Given the description of an element on the screen output the (x, y) to click on. 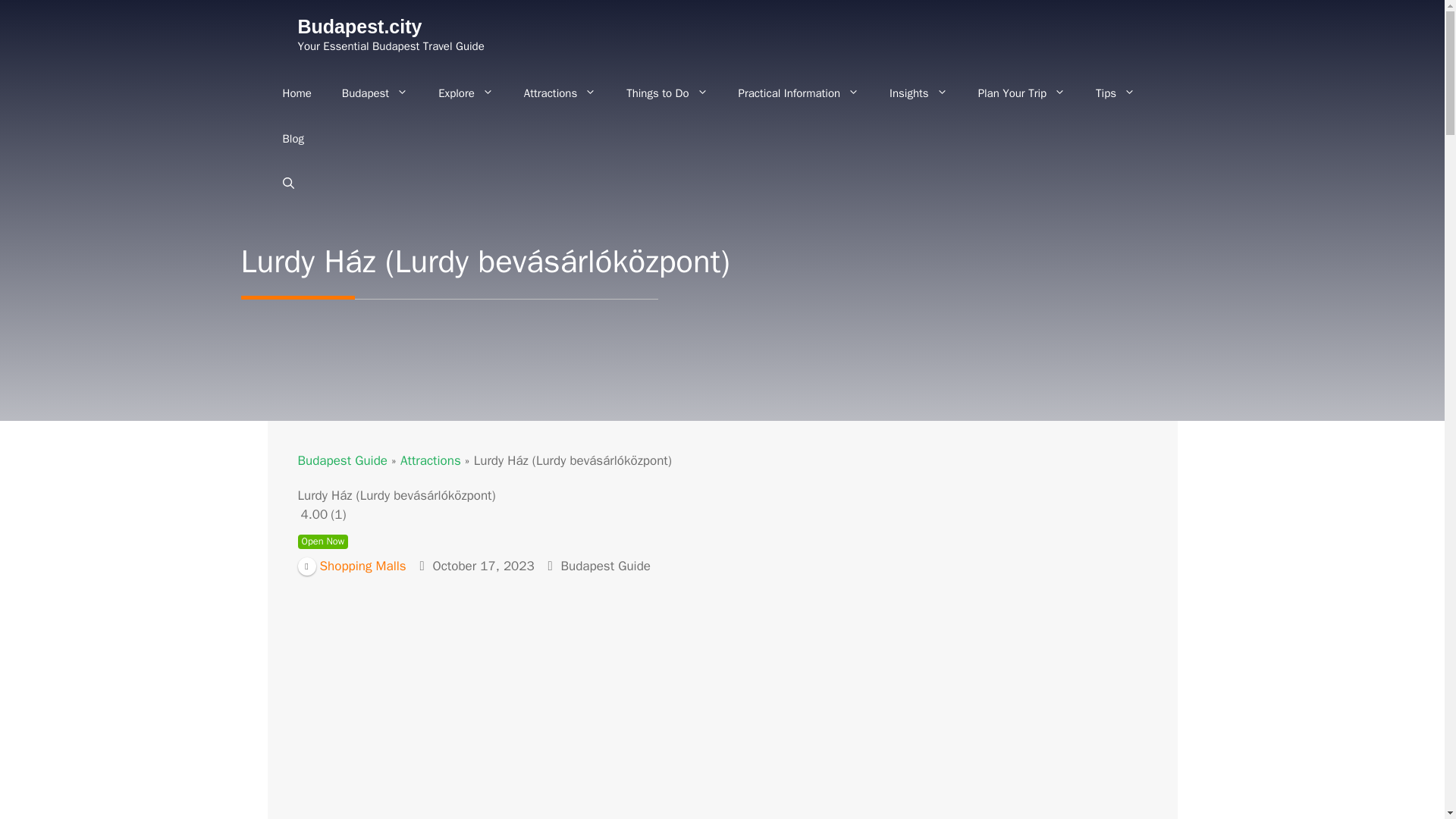
Budapest.city (359, 25)
Shopping Malls (351, 565)
